Given the description of an element on the screen output the (x, y) to click on. 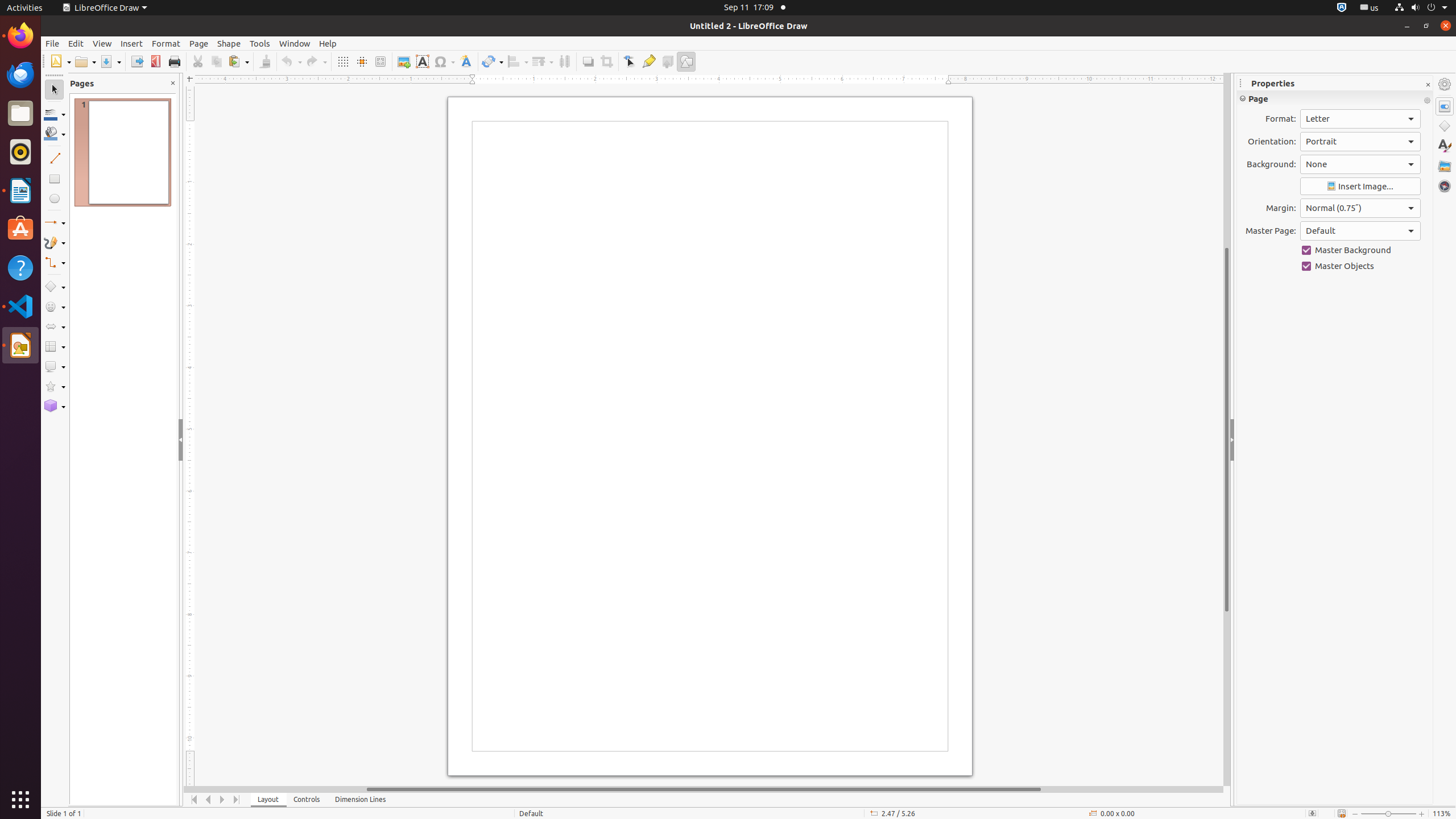
Basic Shapes Element type: push-button (54, 286)
Save Element type: push-button (109, 61)
Dimension Lines Element type: page-tab (360, 799)
Select Element type: push-button (53, 89)
Insert Element type: menu (131, 43)
